Given the description of an element on the screen output the (x, y) to click on. 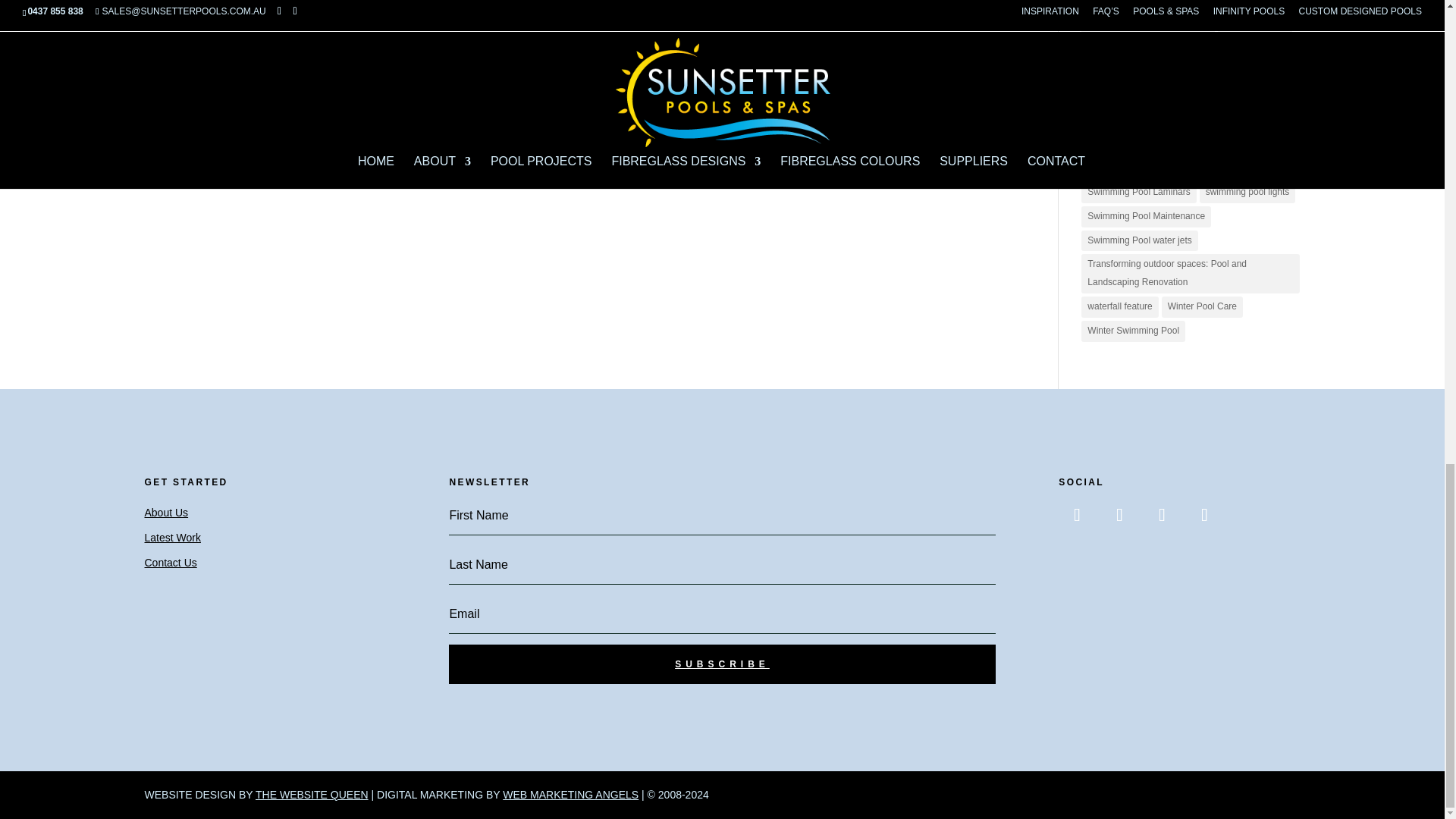
Follow on Instagram (1118, 514)
Follow on Facebook (1076, 514)
Follow on Google (1204, 514)
Follow on Pinterest (1160, 514)
